Given the description of an element on the screen output the (x, y) to click on. 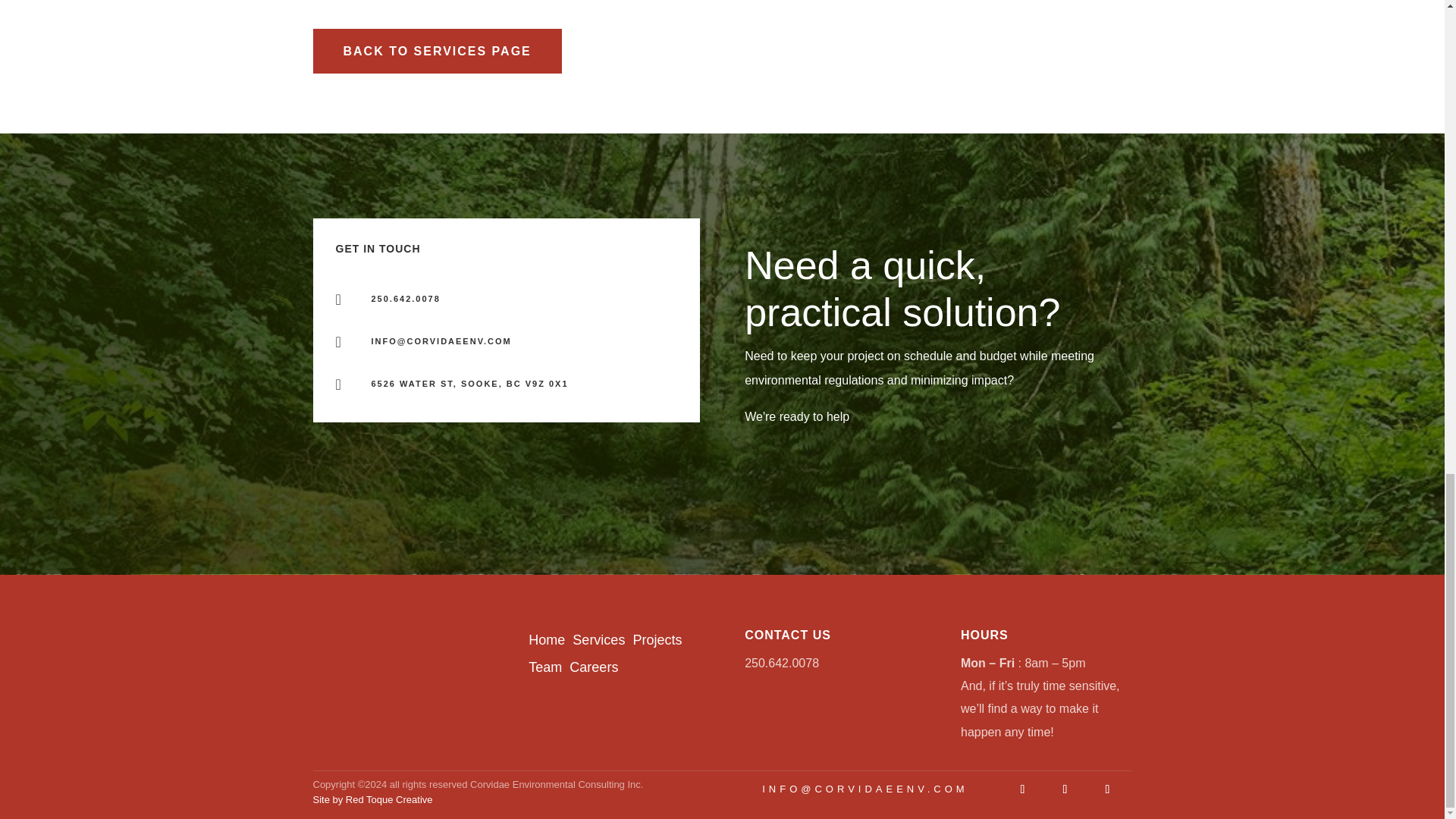
Follow on Instagram (1022, 789)
Careers (593, 667)
Team (545, 667)
Services (598, 639)
Follow on LinkedIn (1064, 789)
Home  (548, 639)
Site by Red Toque Creative (372, 799)
BACK TO SERVICES PAGE (436, 50)
Follow on Facebook (1106, 789)
Projects (656, 639)
